Given the description of an element on the screen output the (x, y) to click on. 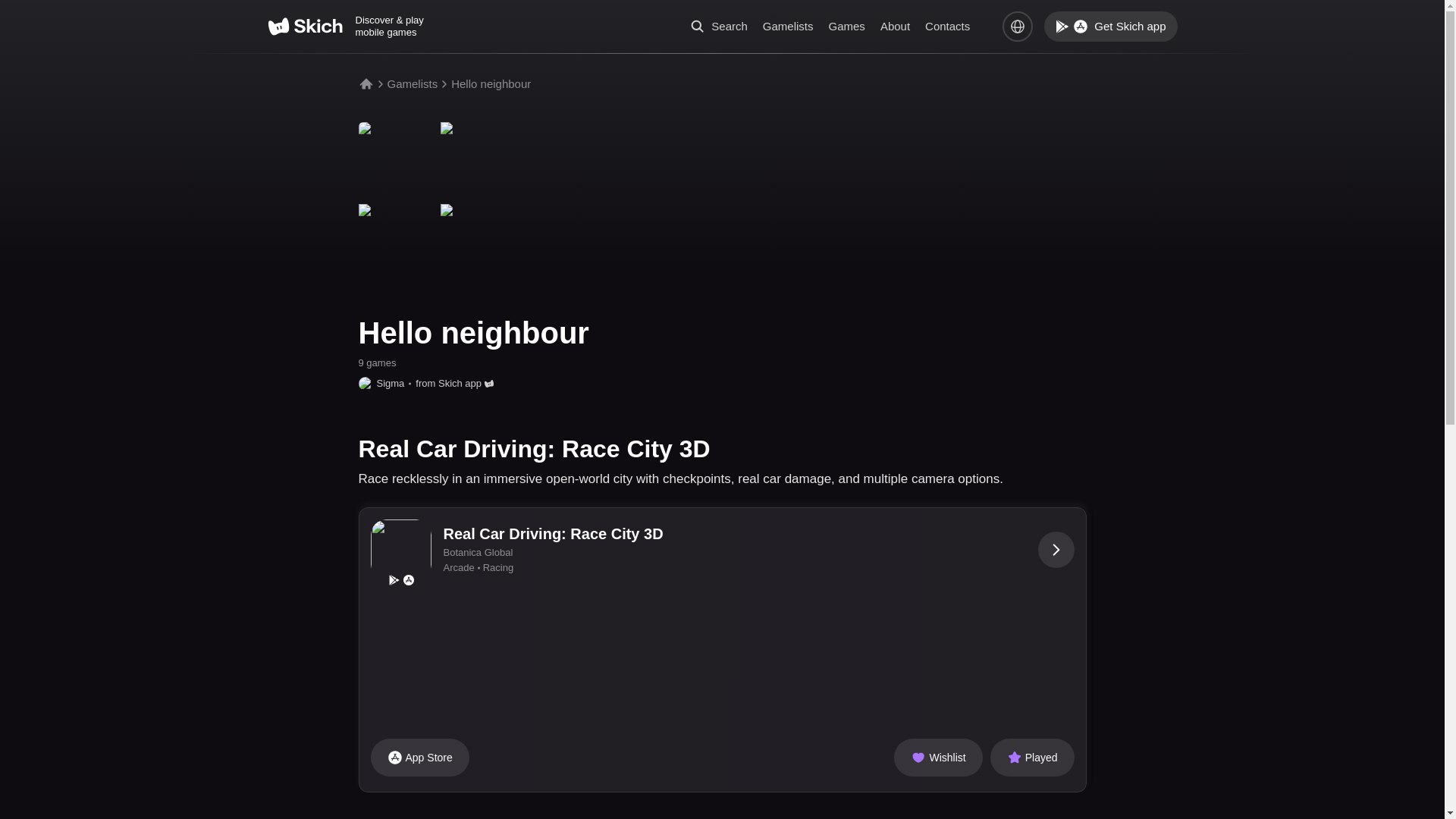
Games (846, 26)
Search (719, 26)
Played (1032, 757)
Contacts (946, 26)
Gamelists (787, 26)
Wishlist (937, 757)
Gamelists (412, 83)
Get Skich app (1109, 26)
About (895, 26)
App Store (418, 757)
